Given the description of an element on the screen output the (x, y) to click on. 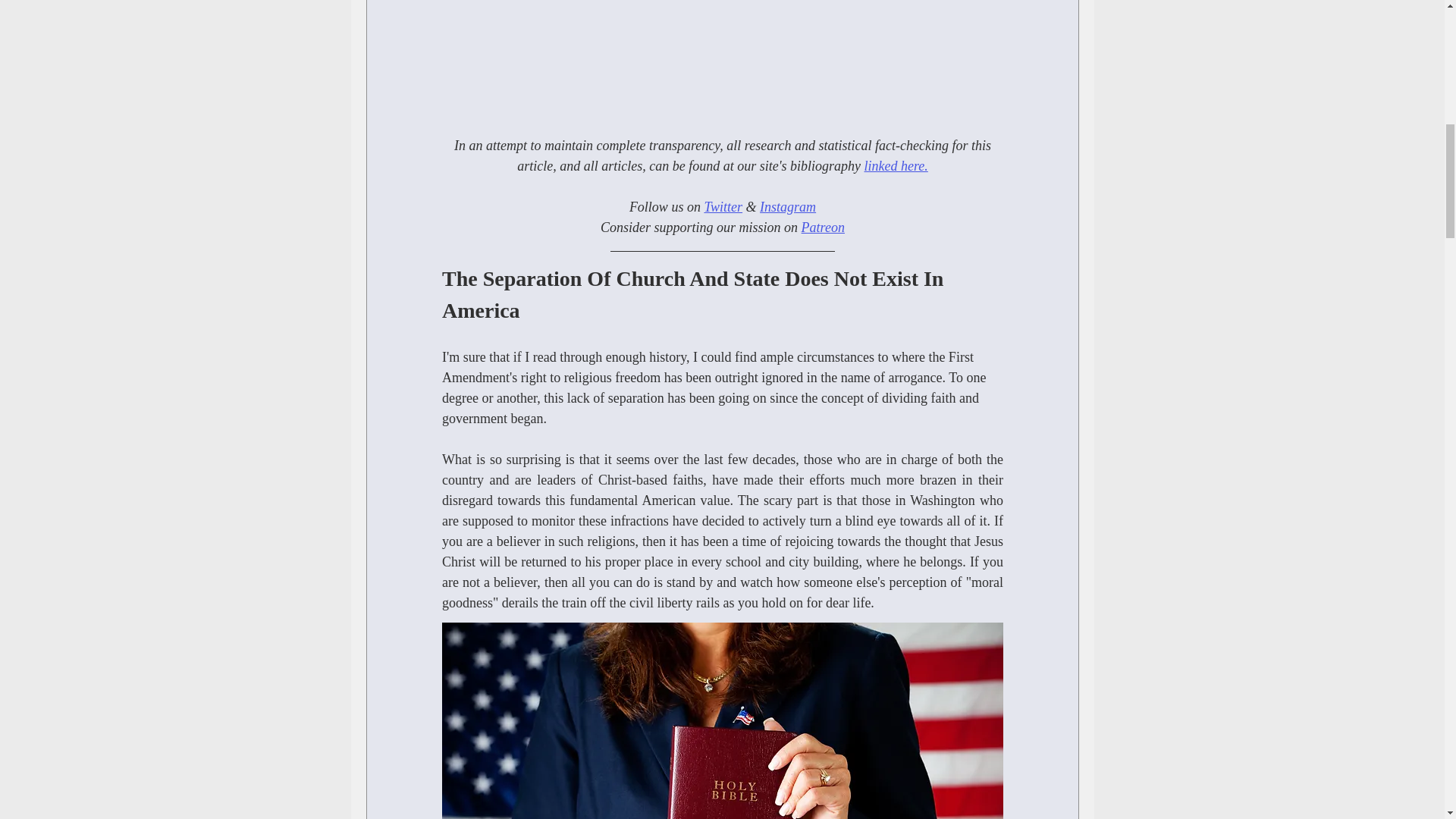
linked here. (895, 165)
Instagram (787, 206)
Twitter (722, 206)
Patreon (822, 227)
